Given the description of an element on the screen output the (x, y) to click on. 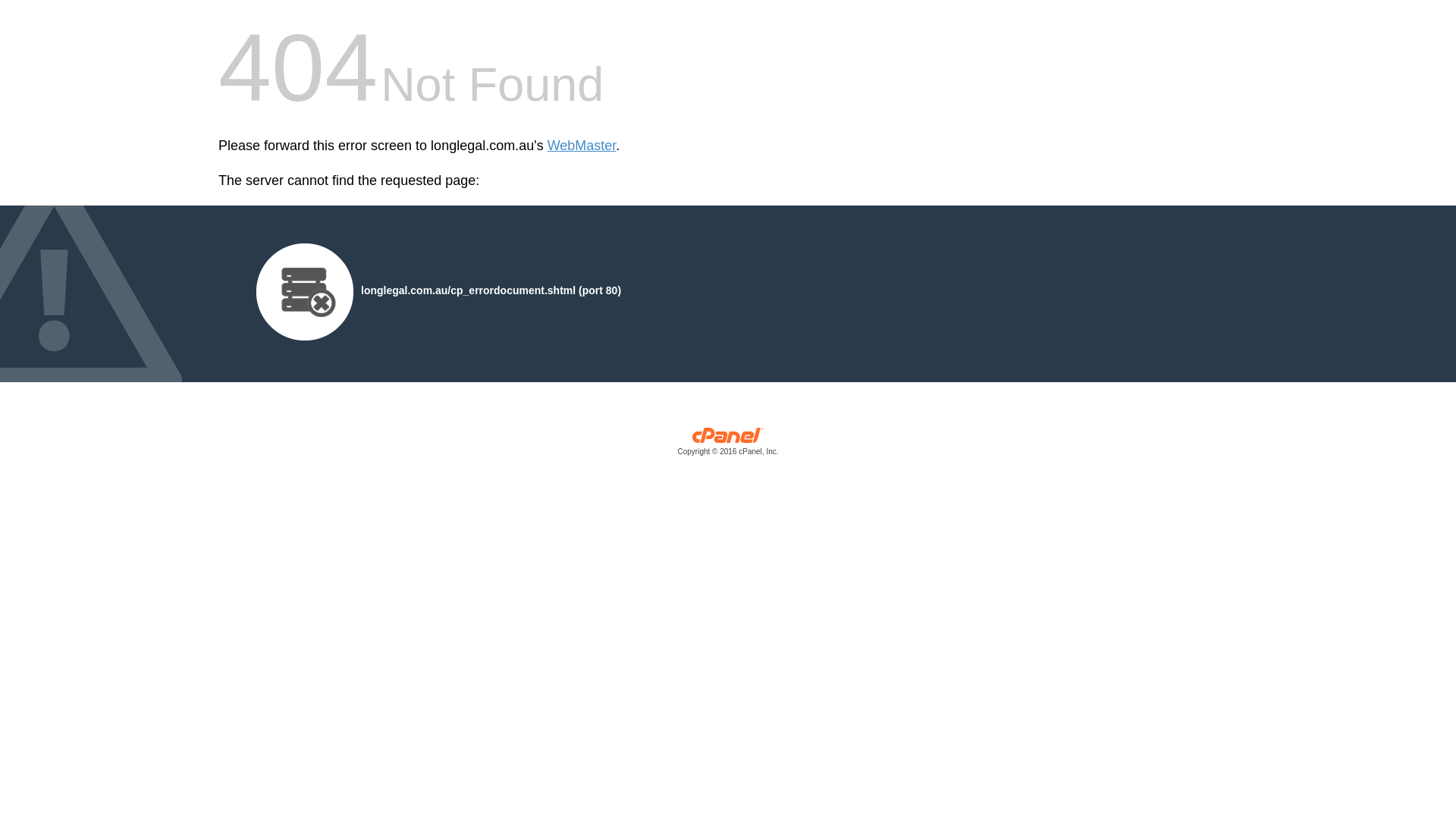
WebMaster Element type: text (581, 145)
